Given the description of an element on the screen output the (x, y) to click on. 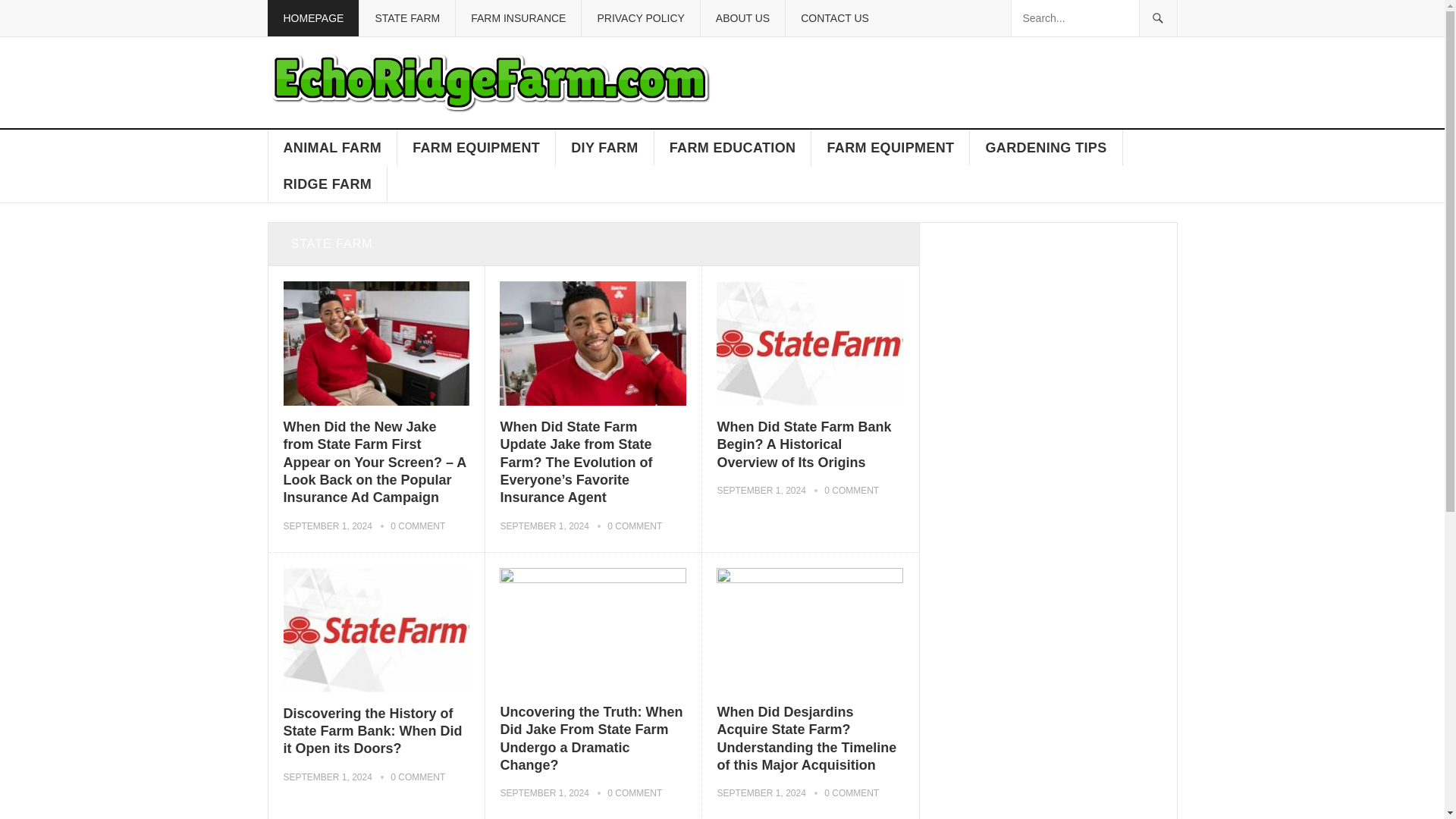
0 COMMENT (634, 525)
RIDGE FARM (327, 184)
FARM EQUIPMENT (889, 147)
ANIMAL FARM (332, 147)
FARM EDUCATION (732, 147)
CONTACT US (833, 18)
0 COMMENT (851, 490)
PRIVACY POLICY (639, 18)
FARM EQUIPMENT (476, 147)
